Given the description of an element on the screen output the (x, y) to click on. 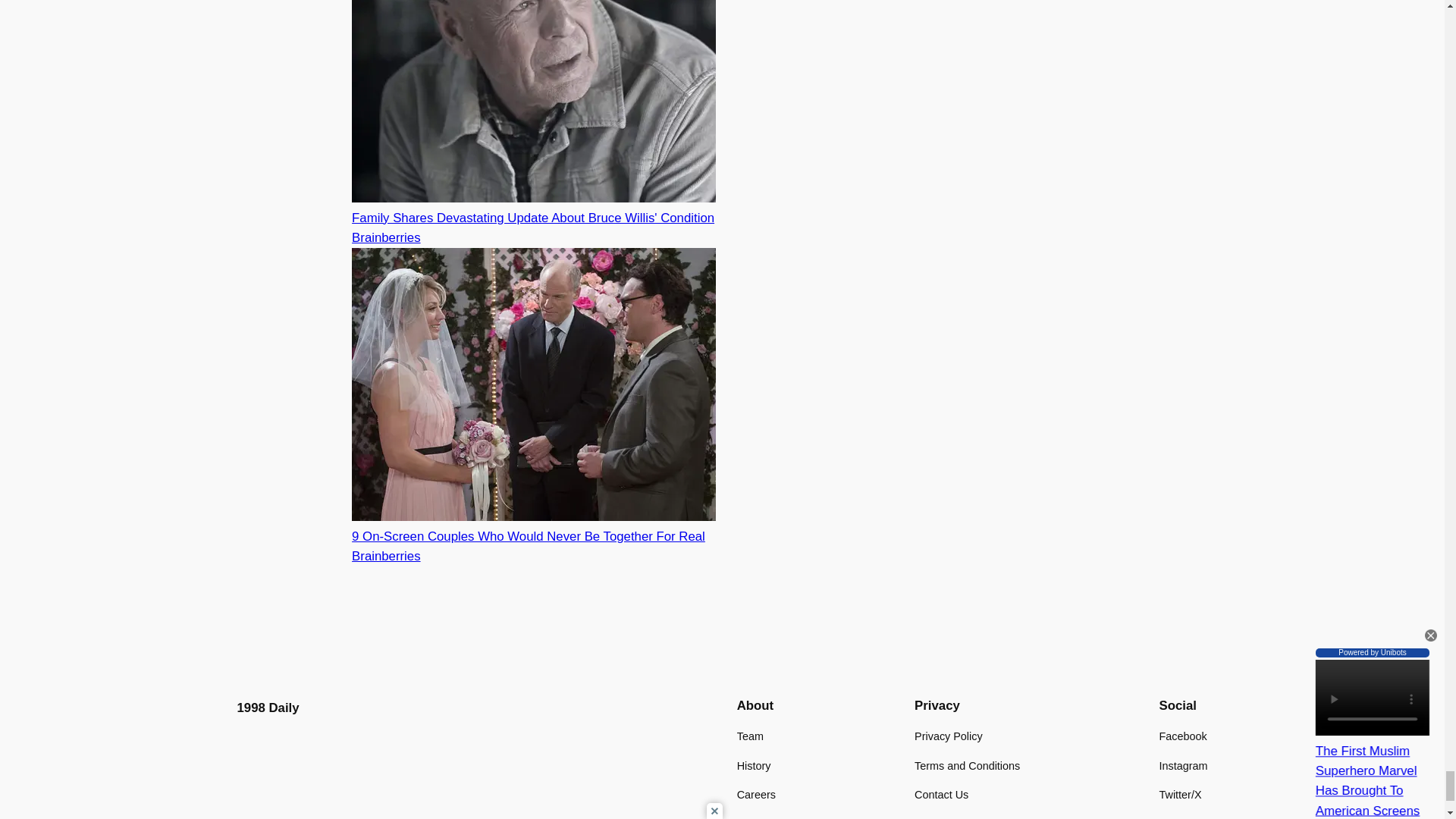
Privacy Policy (948, 736)
Careers (756, 794)
Terms and Conditions (967, 765)
Contact Us (941, 794)
Team (749, 736)
History (753, 765)
Instagram (1182, 765)
1998 Daily (266, 707)
Facebook (1182, 736)
